Given the description of an element on the screen output the (x, y) to click on. 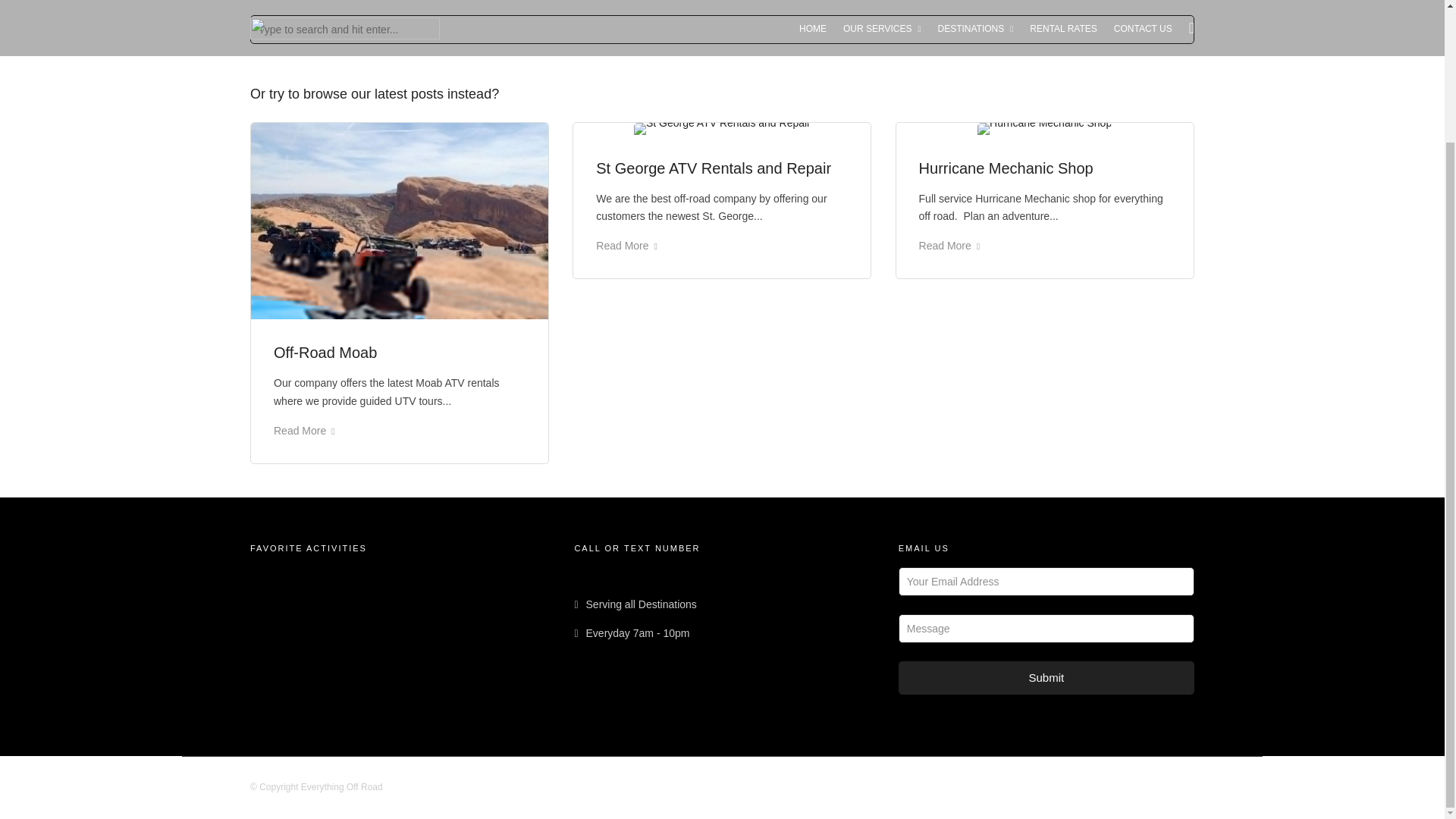
St George ATV Rentals and Repair (713, 167)
Off-Road Moab (325, 352)
Hurricane Mechanic Shop (1005, 167)
Submit (1045, 677)
